Given the description of an element on the screen output the (x, y) to click on. 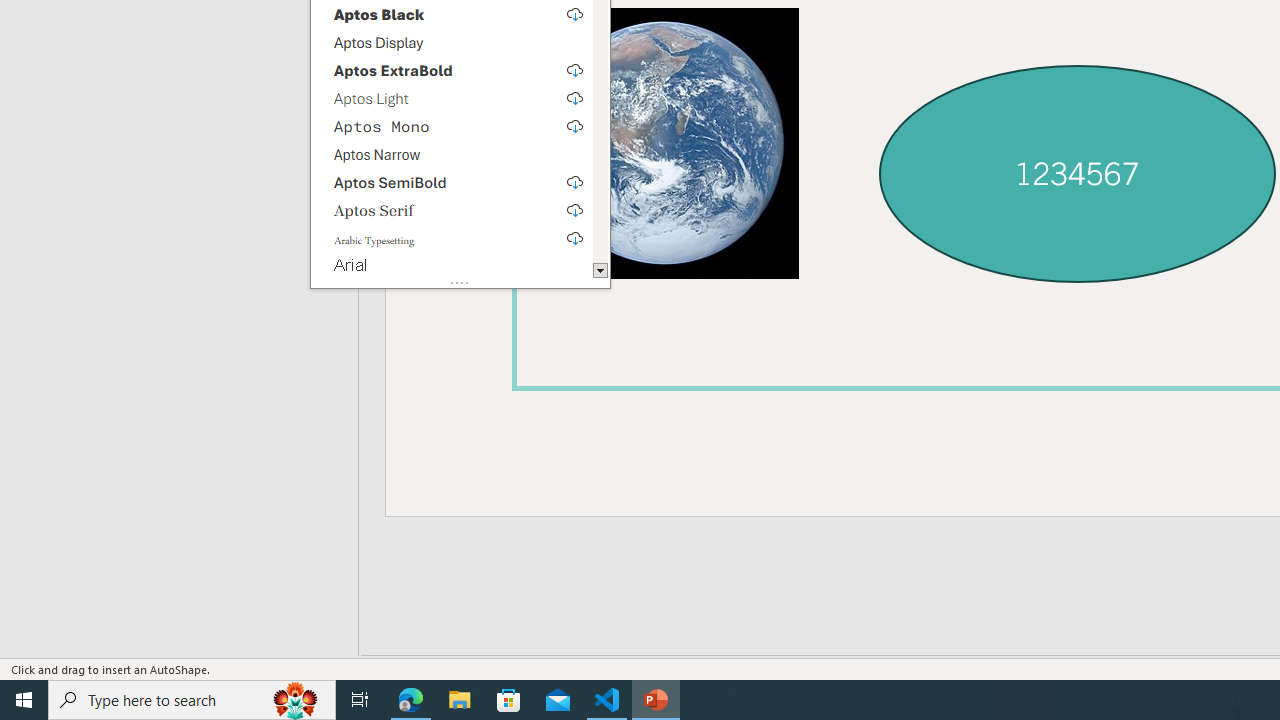
Line down (600, 271)
Aptos Narrow (451, 153)
Aptos Mono, select to download (451, 125)
Arial (451, 265)
Aptos Display (451, 42)
Arabic Typesetting, select to download (451, 237)
Aptos ExtraBold, select to download (451, 70)
Aptos Light, select to download (451, 98)
Aptos Black, select to download (451, 14)
Aptos Serif, select to download (451, 209)
Aptos SemiBold, select to download (451, 181)
